Given the description of an element on the screen output the (x, y) to click on. 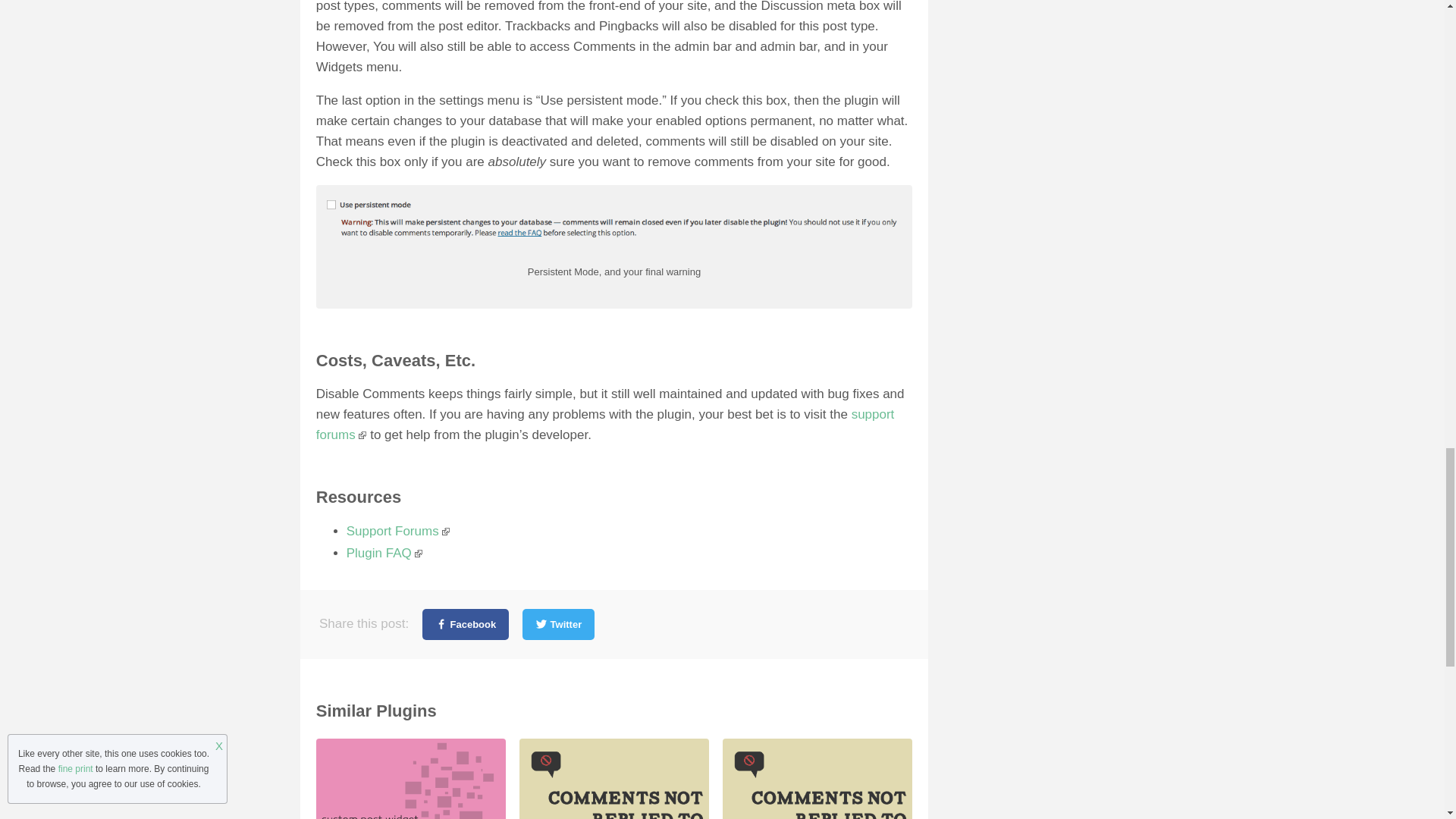
support forums (605, 424)
